Given the description of an element on the screen output the (x, y) to click on. 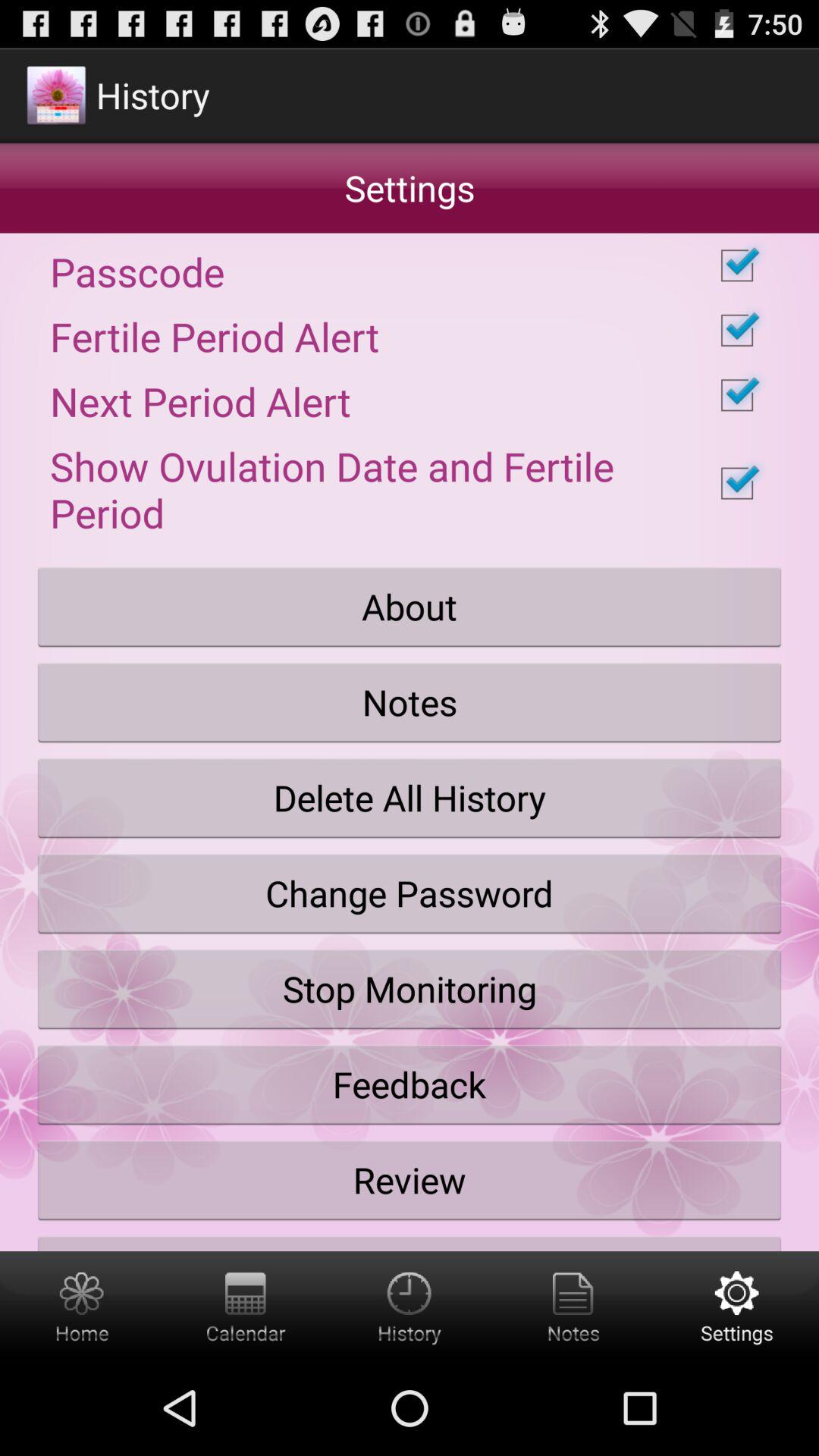
click show ovulation date (409, 483)
